Given the description of an element on the screen output the (x, y) to click on. 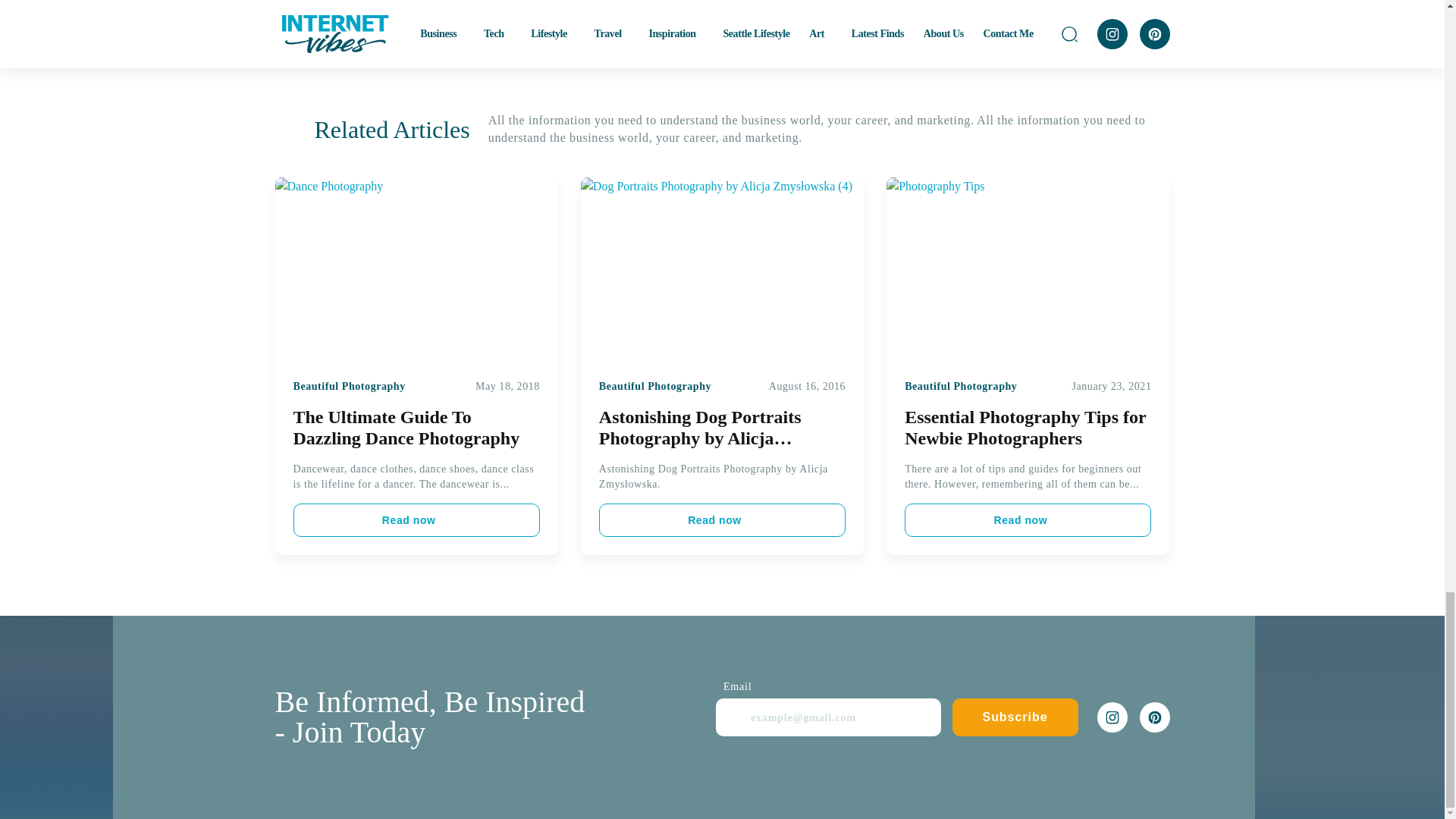
Subscribe (1015, 717)
